Given the description of an element on the screen output the (x, y) to click on. 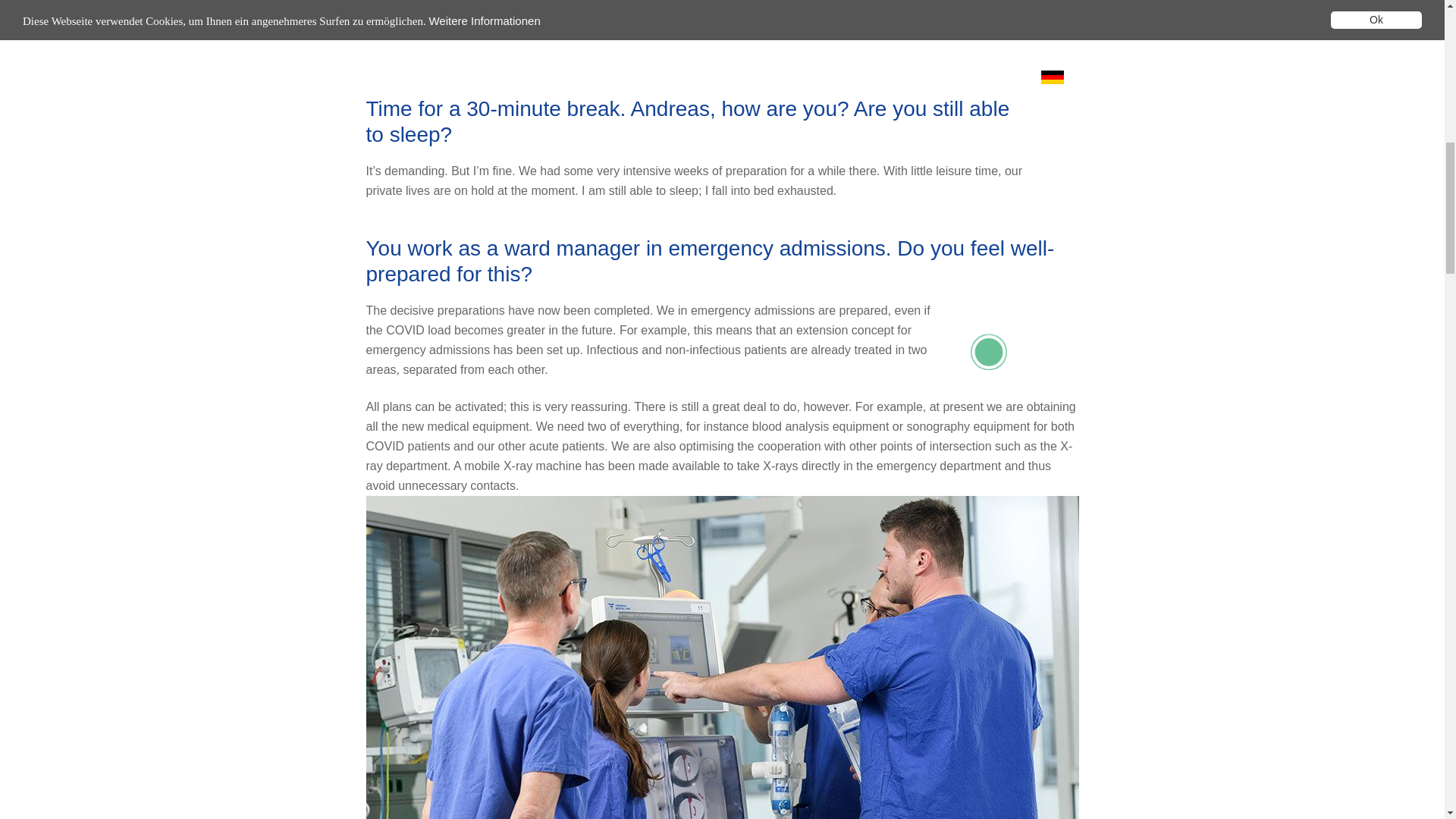
zur deutschen Version (1051, 75)
zur deutschen Version (1051, 77)
Click here. (1005, 351)
